Given the description of an element on the screen output the (x, y) to click on. 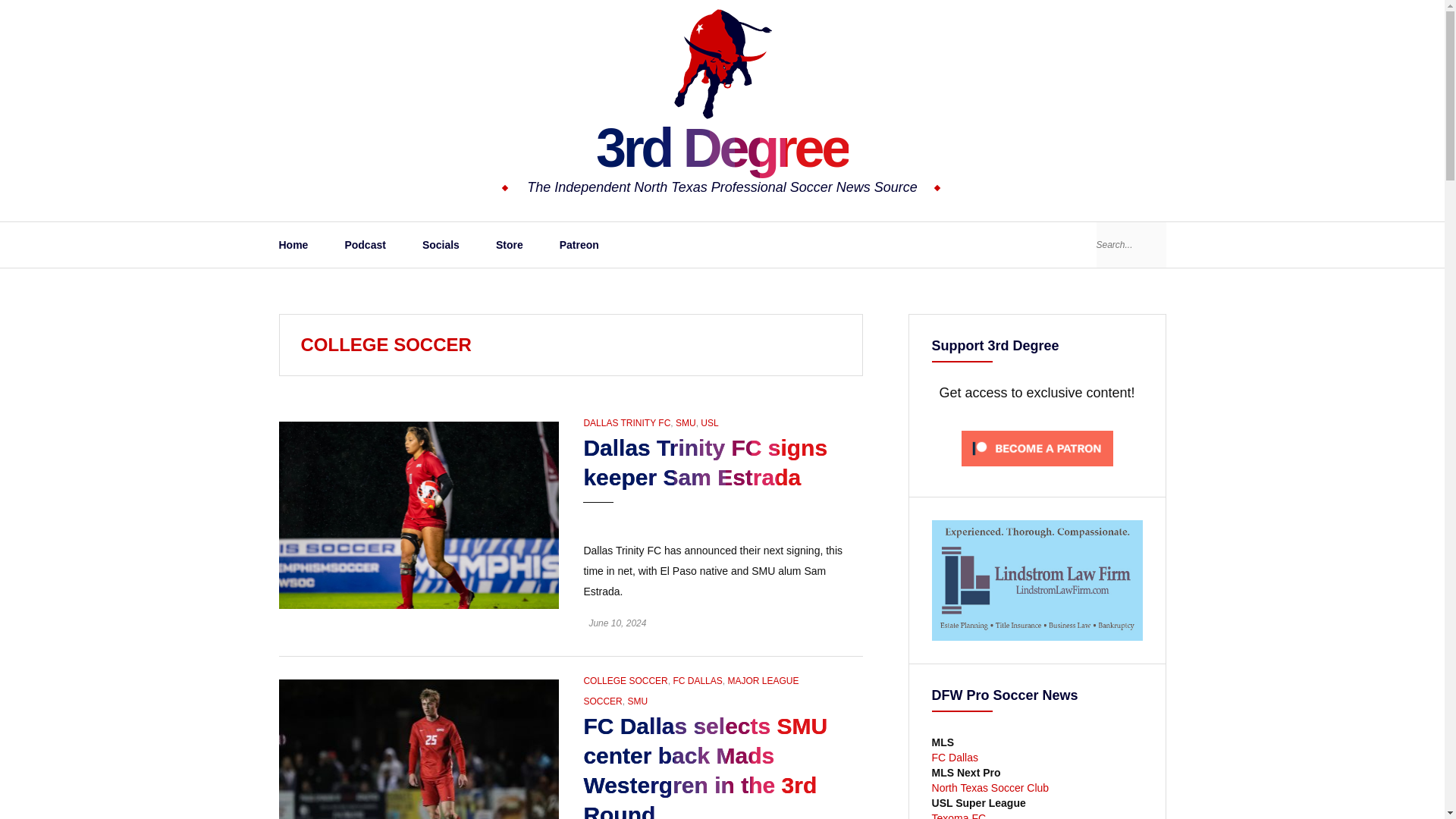
Share on Reddit (828, 516)
Share on X (776, 516)
MAJOR LEAGUE SOCCER (690, 690)
Home (293, 244)
Dallas Trinity FC signs keeper Sam Estrada (419, 513)
Patreon (579, 244)
Share on Facebook (802, 516)
June 10, 2024 (617, 623)
3rd Degree (721, 147)
SMU (685, 422)
COLLEGE SOCCER (624, 680)
Store (509, 244)
SMU (637, 701)
Socials (440, 244)
